Given the description of an element on the screen output the (x, y) to click on. 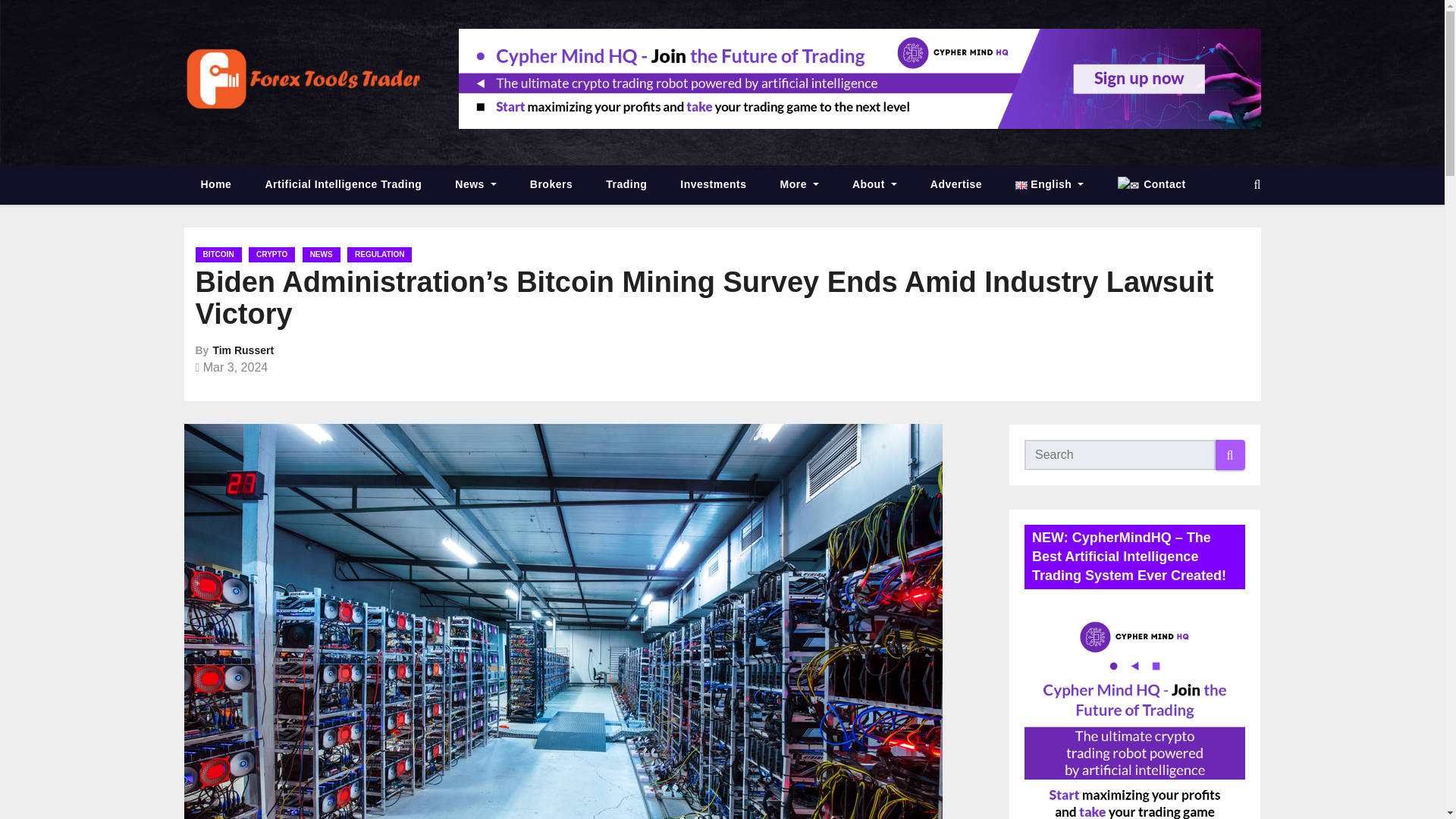
Contact (1151, 184)
Home (215, 184)
Investments (712, 184)
Trading (626, 184)
Investments (712, 184)
News (475, 184)
News (475, 184)
More (798, 184)
About (874, 184)
Advertise (956, 184)
